Given the description of an element on the screen output the (x, y) to click on. 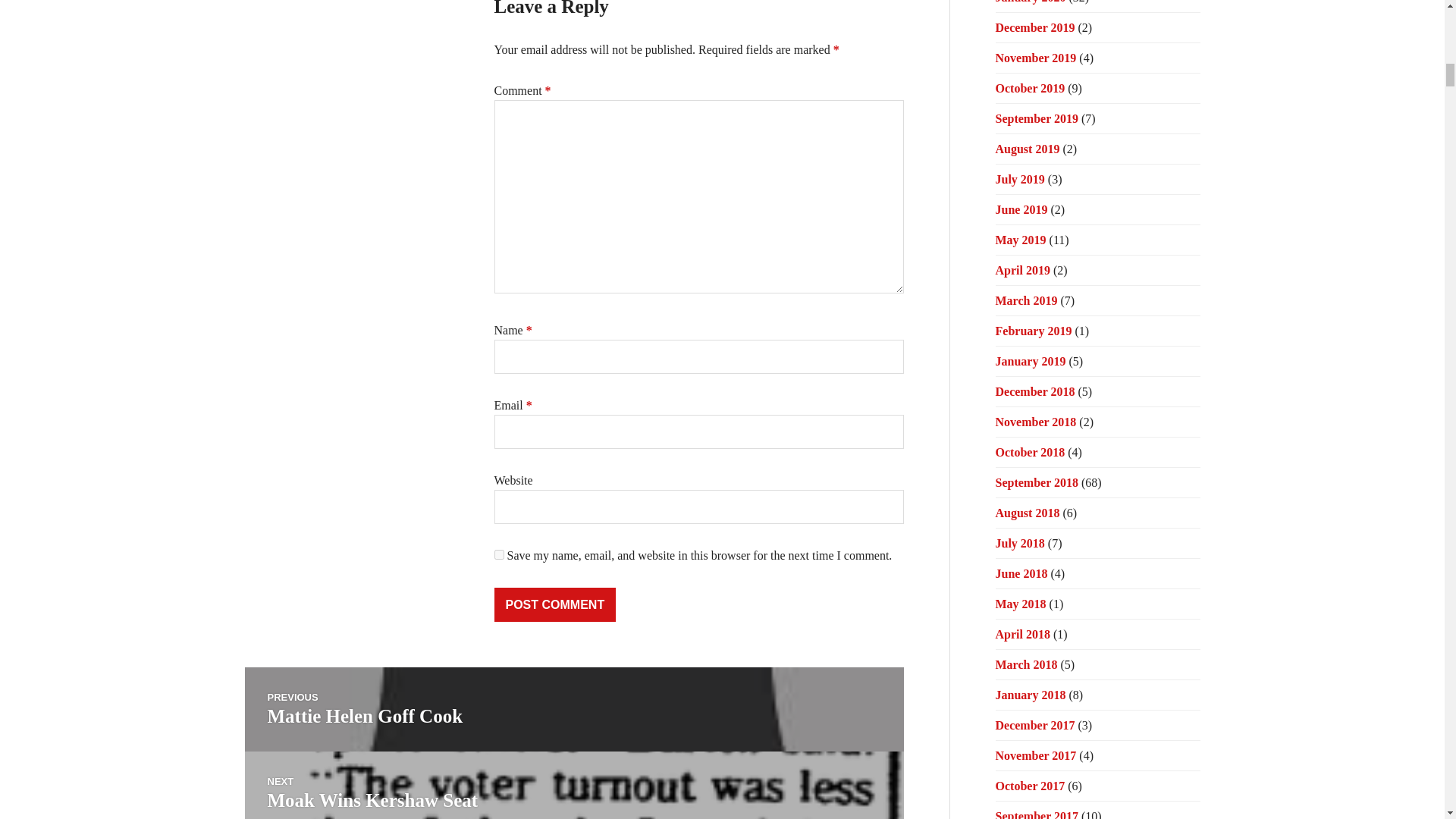
yes (573, 709)
Post Comment (499, 554)
Post Comment (555, 604)
